Given the description of an element on the screen output the (x, y) to click on. 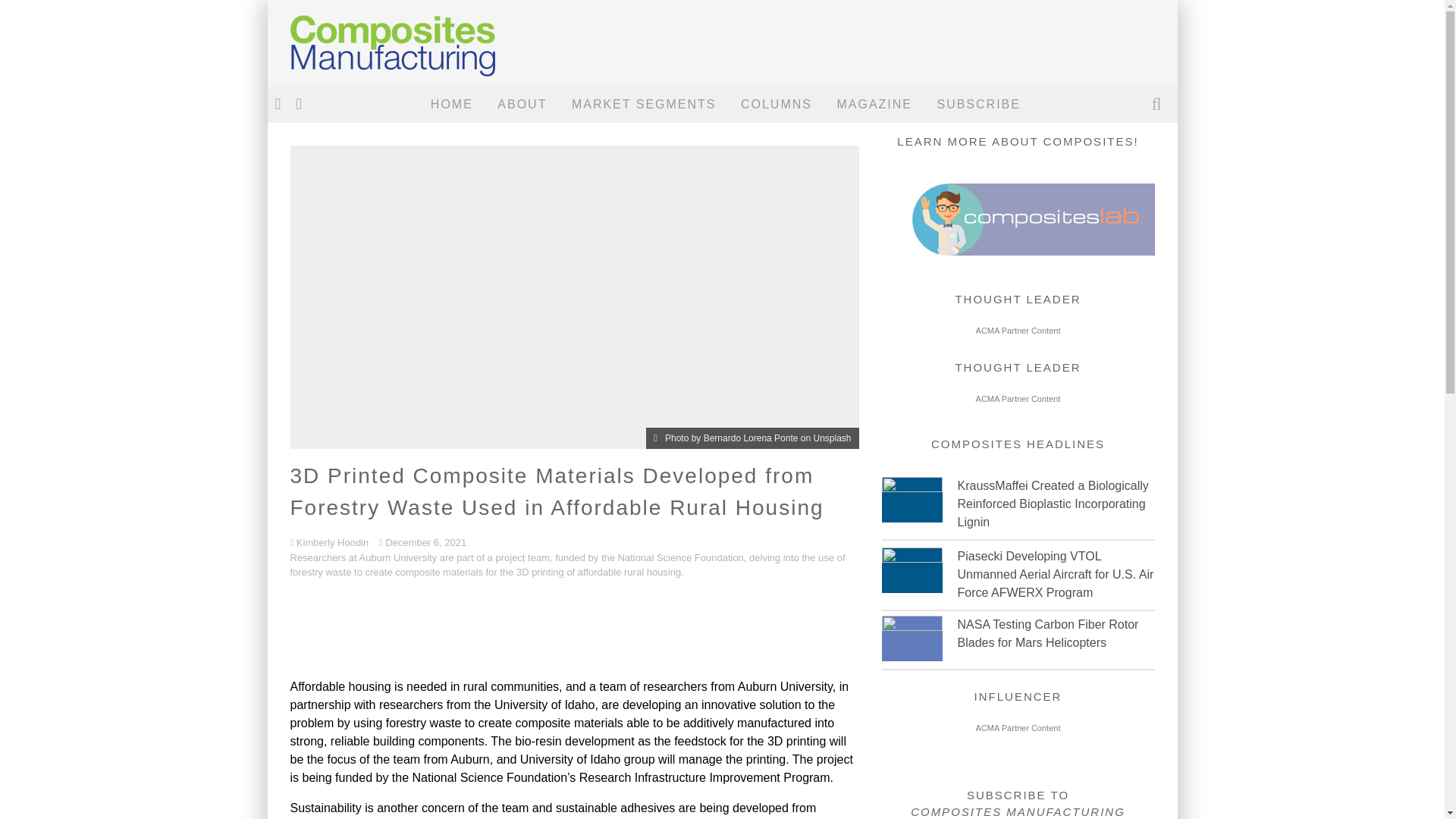
MAGAZINE (874, 104)
ABOUT (521, 104)
compositesLab-composites-101 (1017, 250)
Search (1158, 104)
COLUMNS (776, 104)
HOME (451, 104)
MARKET SEGMENTS (644, 104)
